Given the description of an element on the screen output the (x, y) to click on. 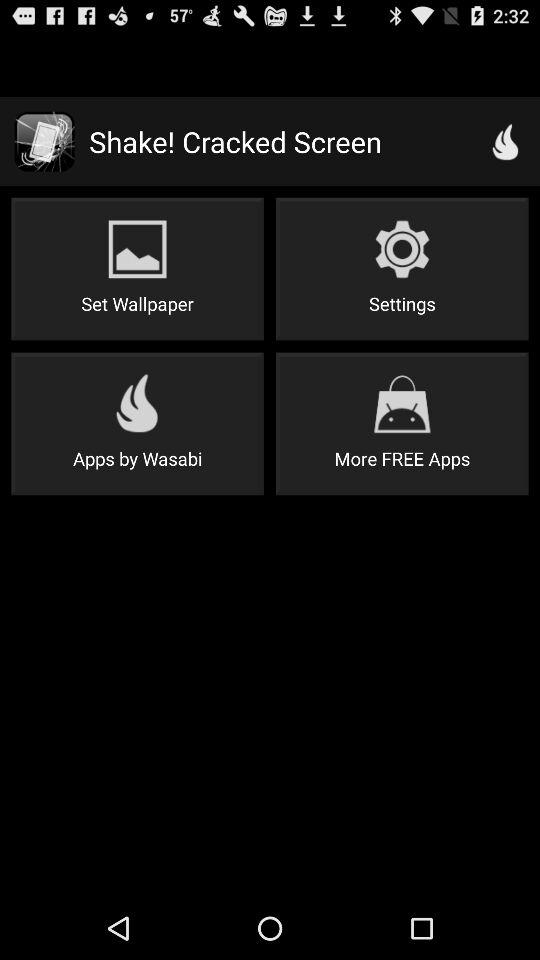
tap item below settings item (402, 423)
